Given the description of an element on the screen output the (x, y) to click on. 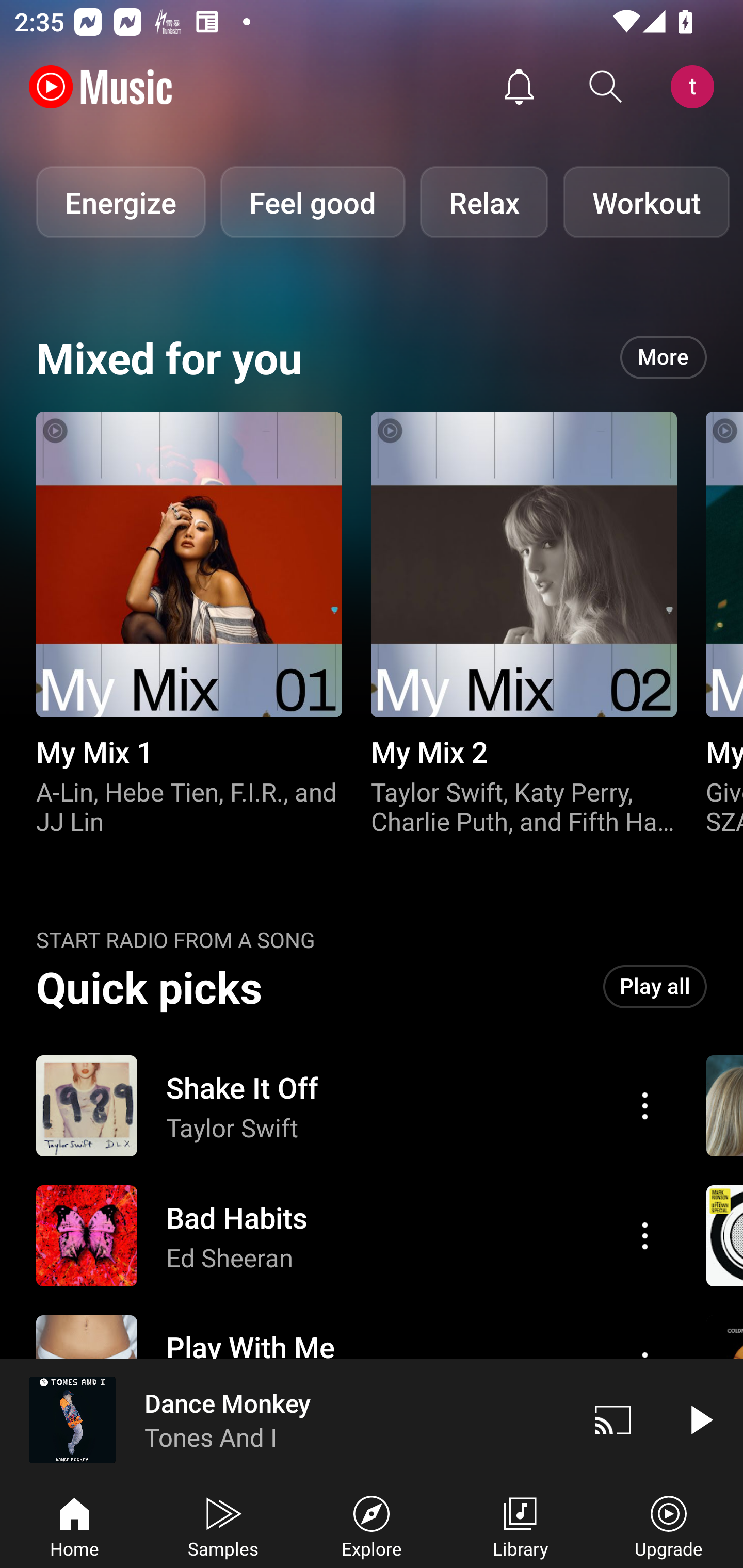
Activity feed (518, 86)
Search (605, 86)
Account (696, 86)
Action menu (349, 1106)
Action menu (644, 1106)
Action menu (349, 1236)
Action menu (644, 1235)
Dance Monkey Tones And I (284, 1419)
Cast. Disconnected (612, 1419)
Play video (699, 1419)
Home (74, 1524)
Samples (222, 1524)
Explore (371, 1524)
Library (519, 1524)
Upgrade (668, 1524)
